Given the description of an element on the screen output the (x, y) to click on. 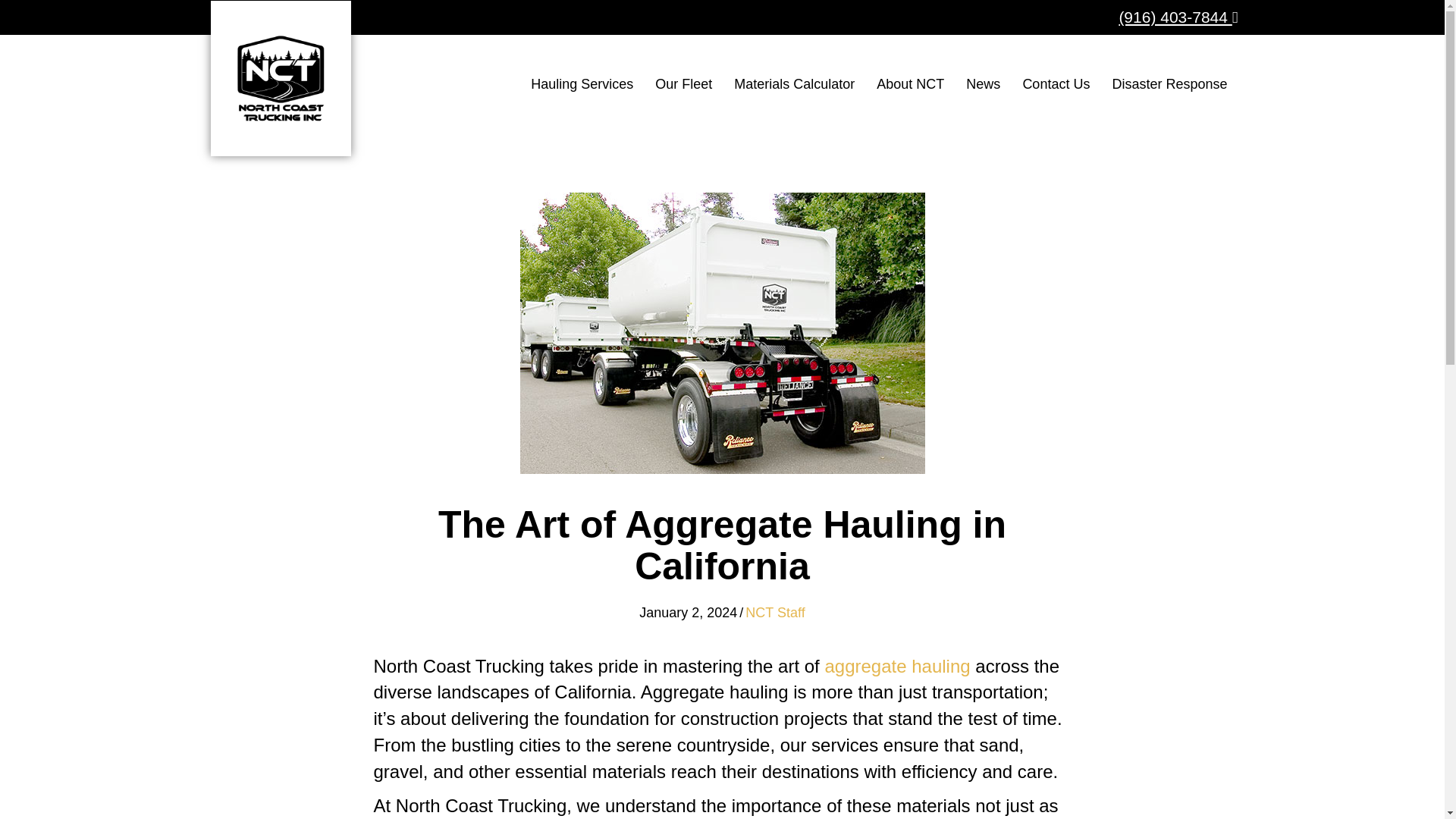
aggregate hauling (896, 666)
logo (280, 78)
Disaster Response (1168, 83)
Our Fleet (683, 83)
About NCT (910, 83)
Hauling Services (581, 83)
Contact Us (1055, 83)
trucks-and-transfers (721, 333)
NCT Staff (775, 612)
Materials Calculator (793, 83)
